Given the description of an element on the screen output the (x, y) to click on. 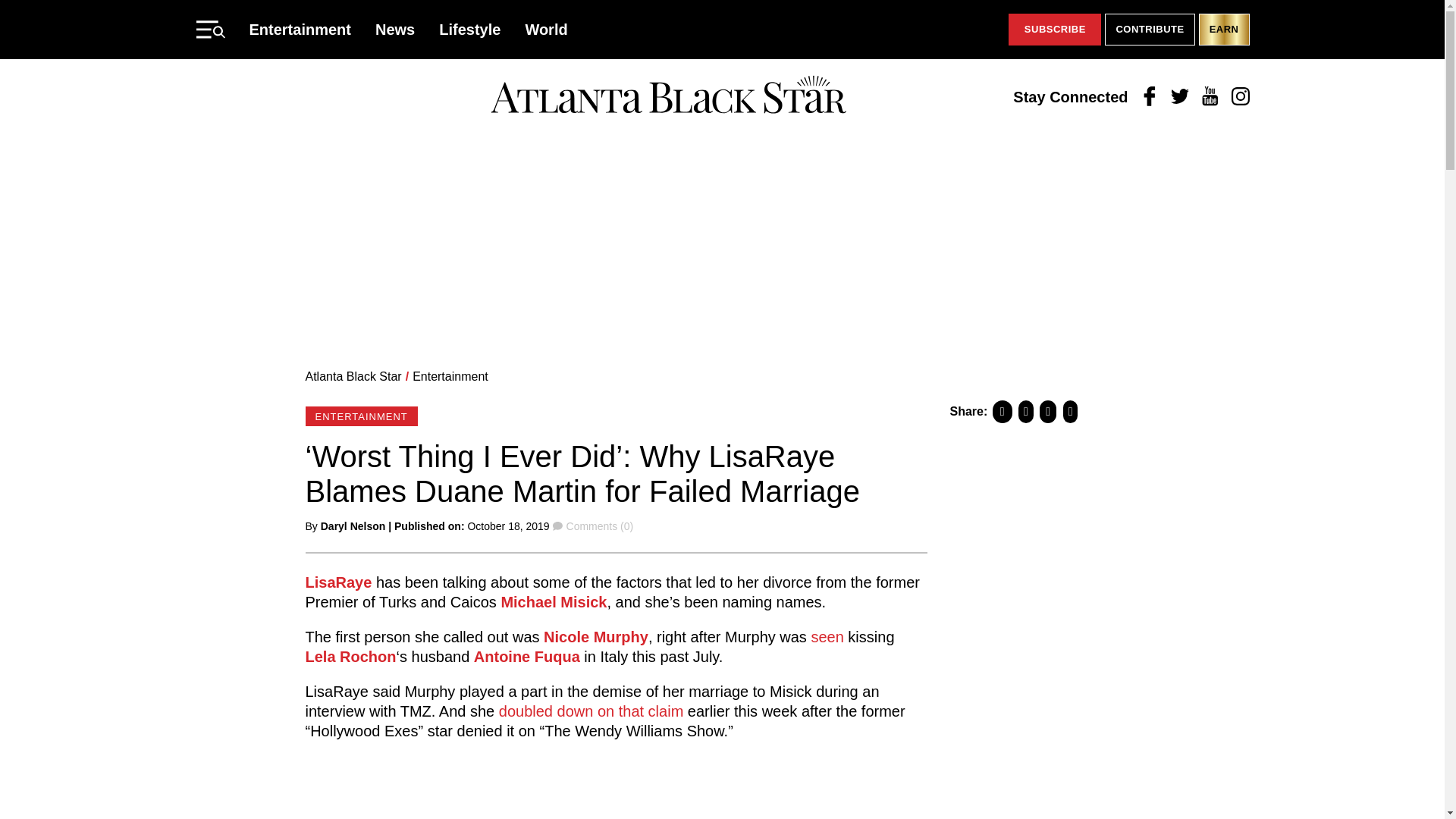
Entertainment (299, 29)
SUBSCRIBE (1054, 29)
EARN (1223, 29)
World (545, 29)
Go to Atlanta Black Star. (352, 376)
Atlanta Black Star (352, 376)
Atlanta Black Star (667, 96)
Go to the Entertainment Category archives. (449, 376)
CONTRIBUTE (1149, 29)
Entertainment (449, 376)
News (394, 29)
Lifestyle (469, 29)
